Given the description of an element on the screen output the (x, y) to click on. 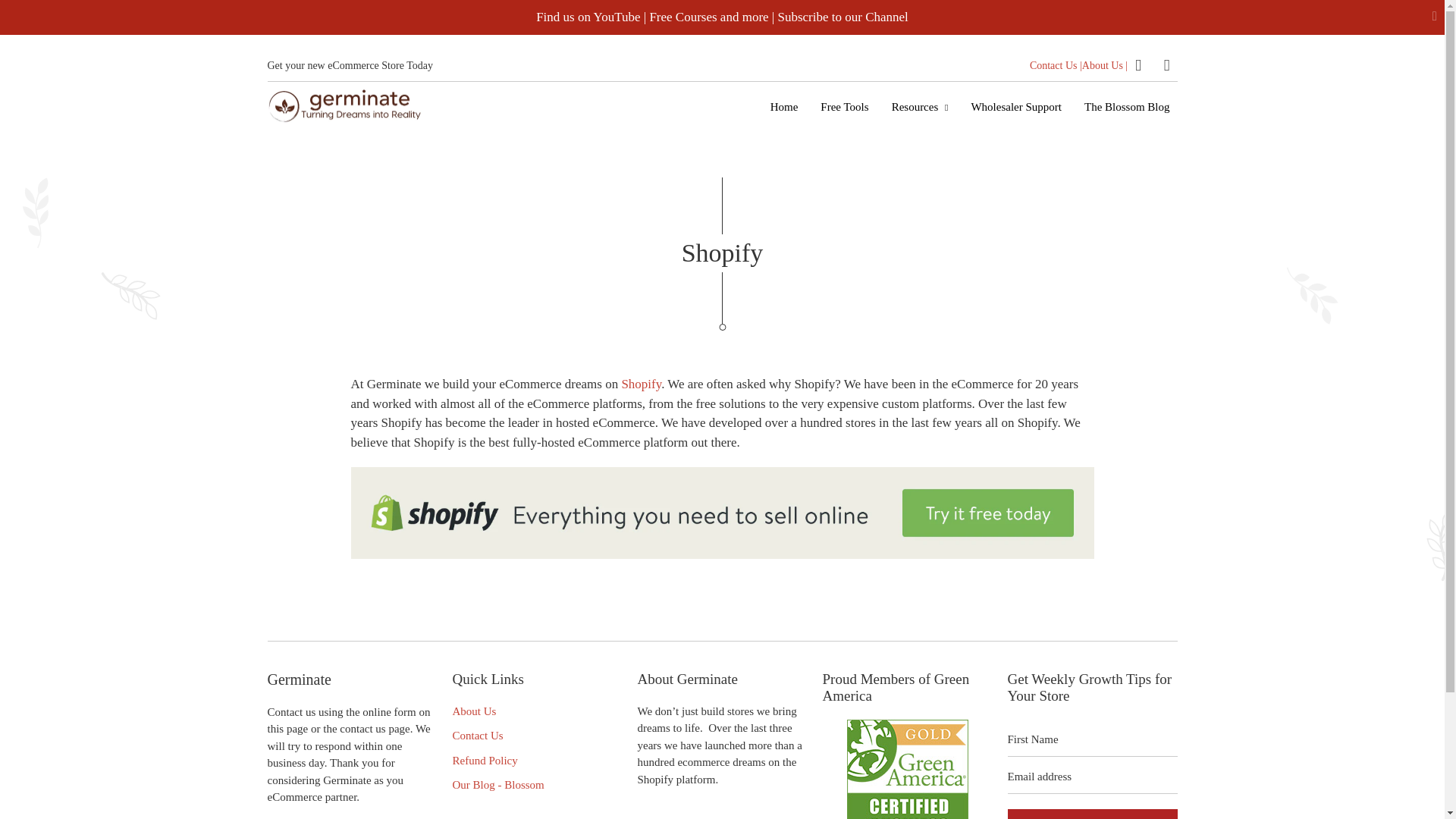
The Blossom Blog (1127, 106)
Resources (919, 106)
Wholesaler Support (1015, 106)
Shopify Free Trial (641, 383)
About Us (473, 711)
Shopify Free Trial (721, 554)
Shopify (641, 383)
Home (784, 106)
Free Tools (844, 106)
Sign Up (1091, 814)
